Given the description of an element on the screen output the (x, y) to click on. 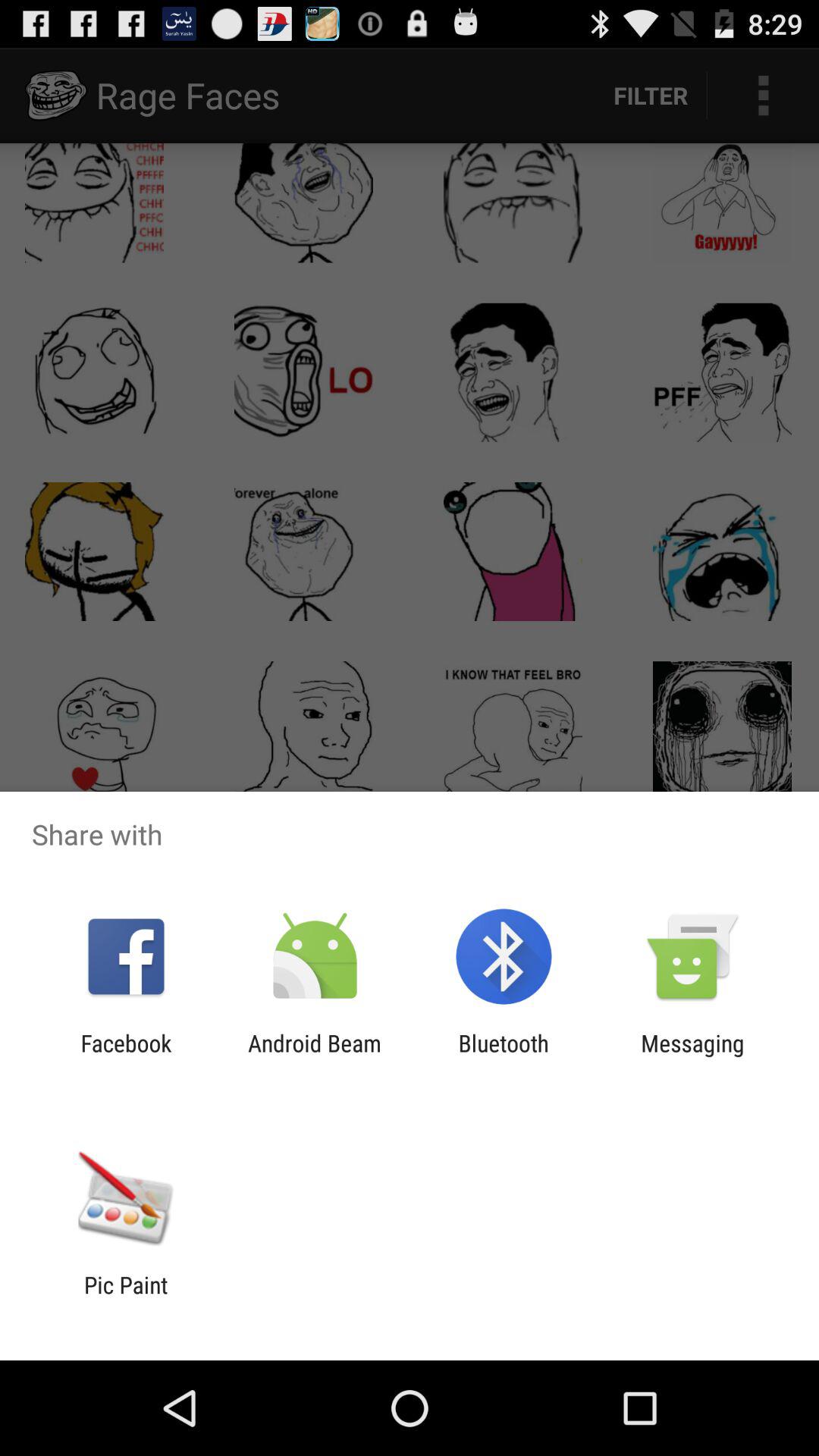
click the app to the right of android beam (503, 1056)
